Given the description of an element on the screen output the (x, y) to click on. 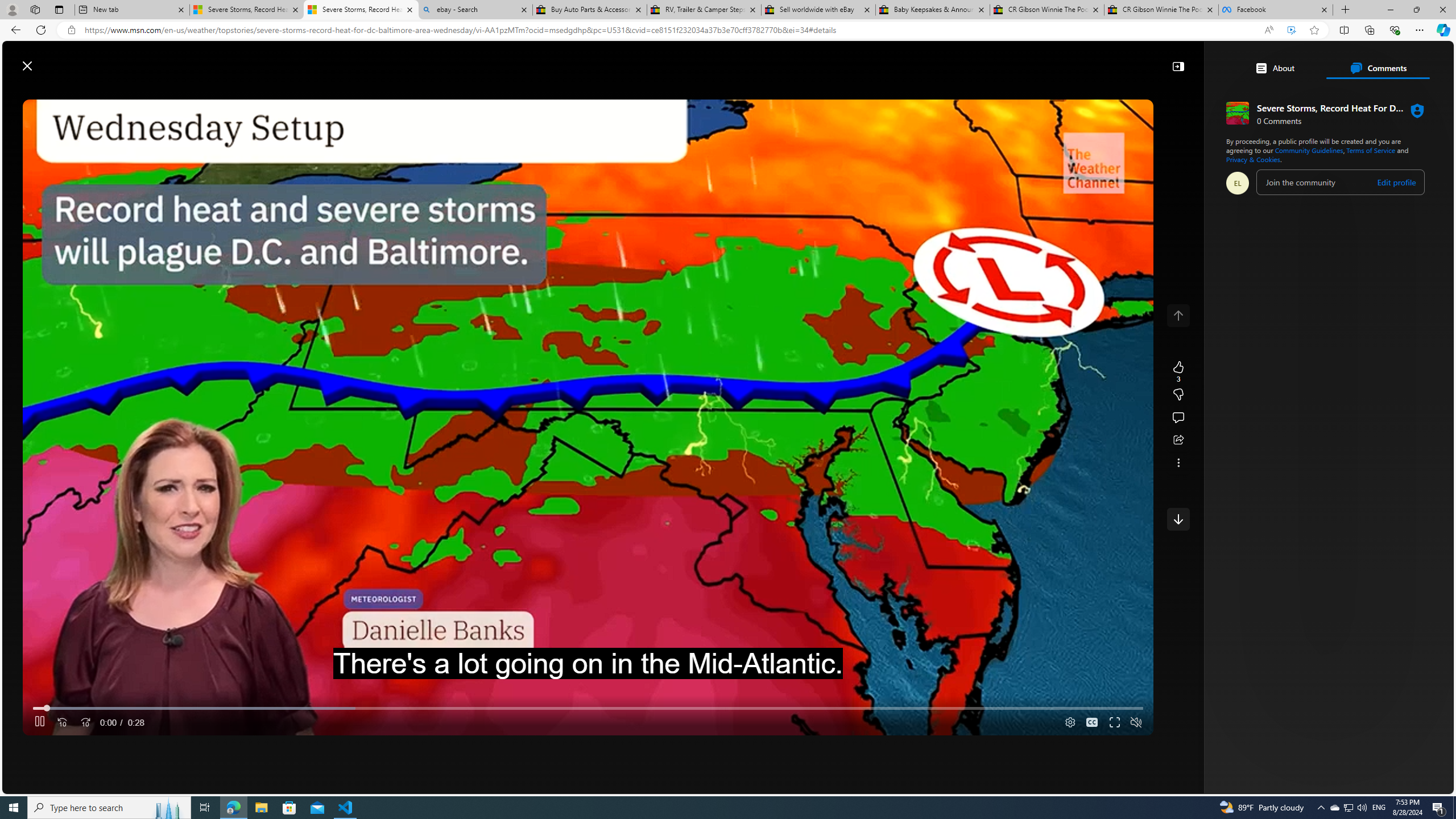
Severe Storms, Record Heat For DC, Baltimore Area Wednesday (360, 9)
Share this story (1178, 440)
Microsoft Start (53, 60)
Terms of Service (1371, 149)
Following (373, 92)
Open Copilot (930, 59)
Collapse (1178, 65)
Privacy & Cookies (1252, 158)
Sell worldwide with eBay (818, 9)
Class: control (1178, 518)
